Given the description of an element on the screen output the (x, y) to click on. 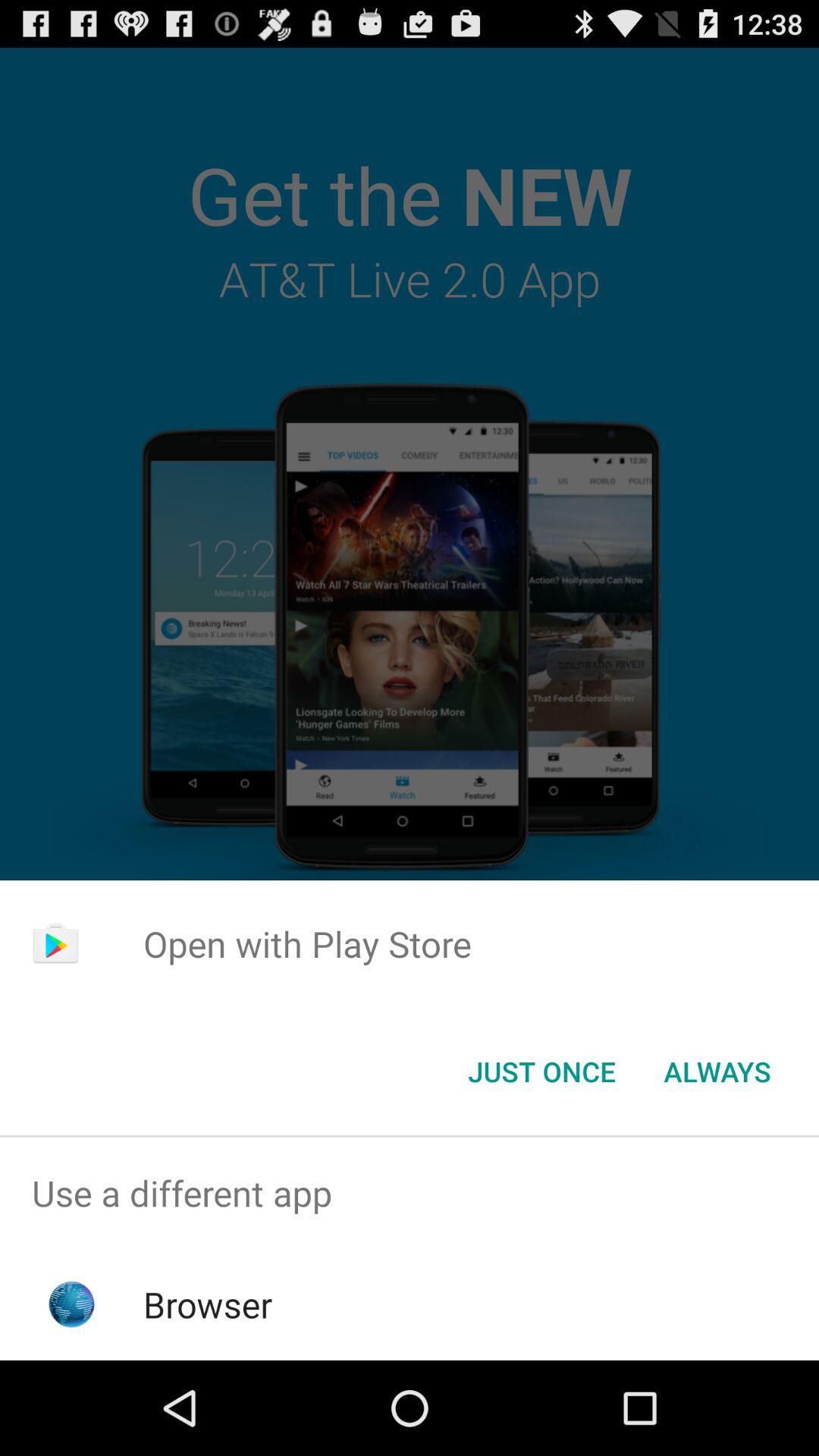
launch the use a different icon (409, 1192)
